Given the description of an element on the screen output the (x, y) to click on. 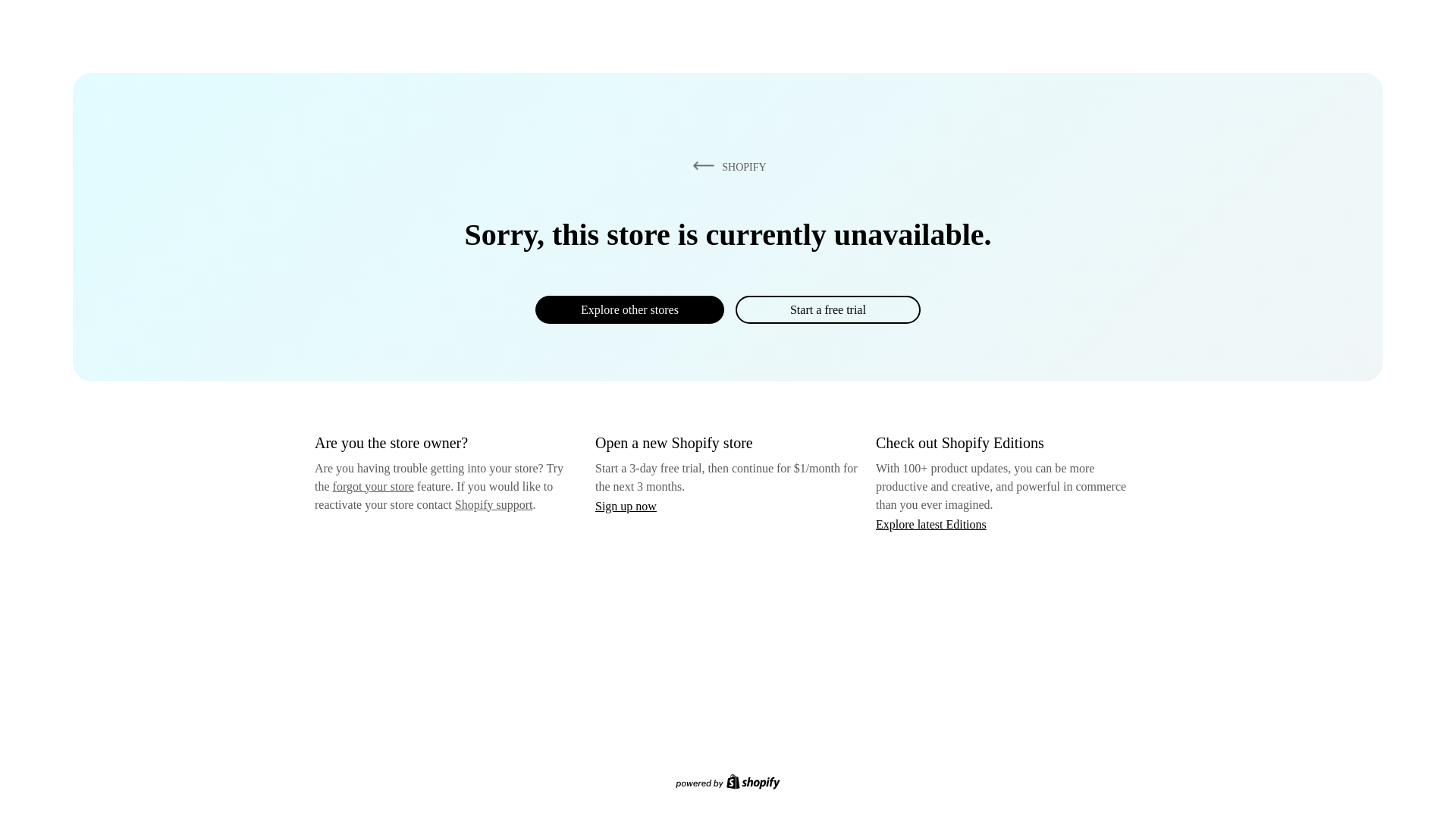
forgot your store (373, 486)
Shopify support (493, 504)
Start a free trial (827, 309)
Explore latest Editions (931, 523)
Sign up now (625, 505)
SHOPIFY (726, 166)
Explore other stores (629, 309)
